Given the description of an element on the screen output the (x, y) to click on. 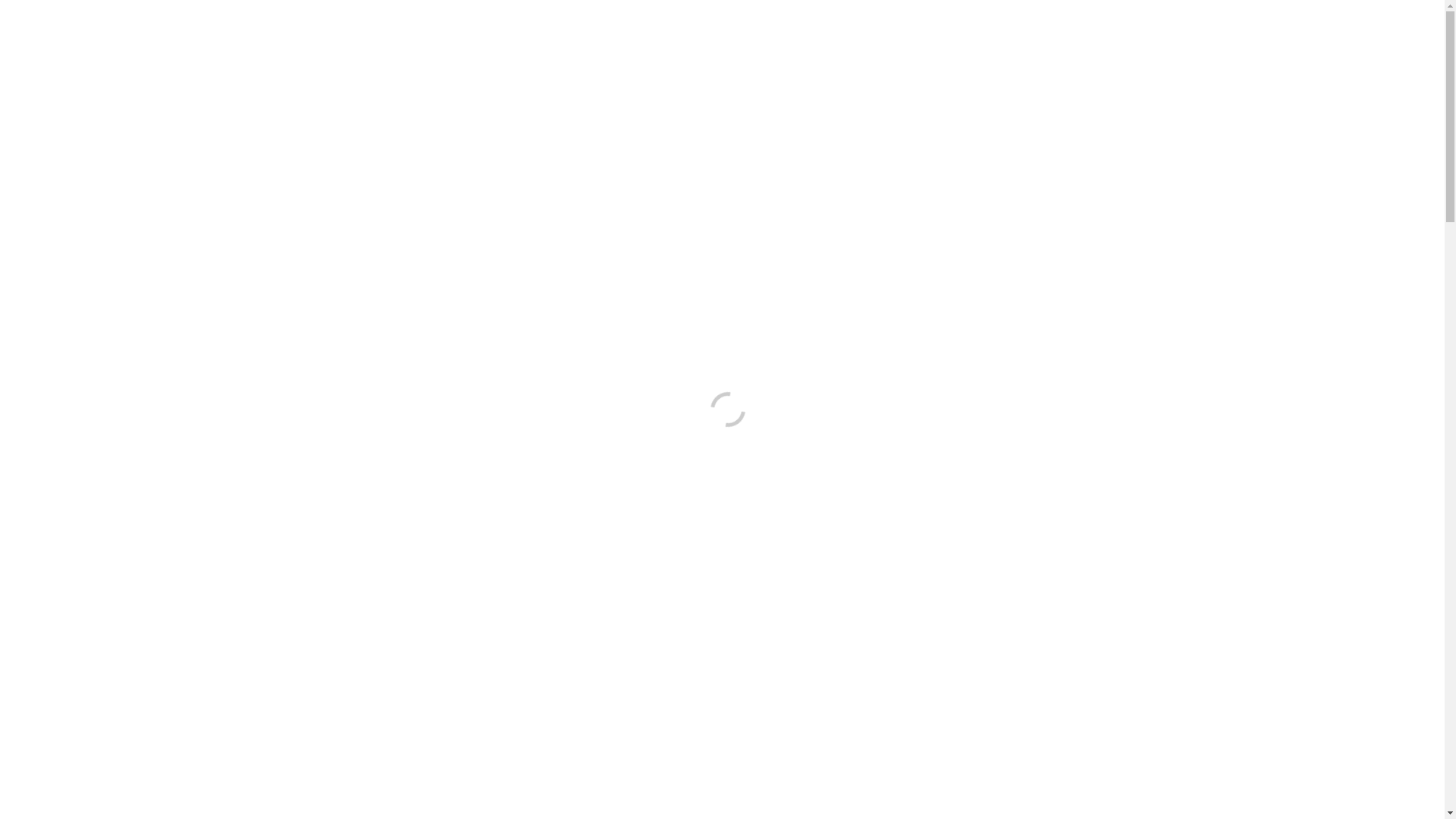
ABOUT BTA Element type: text (633, 64)
PLAYER Element type: text (706, 64)
Home Element type: hover (392, 71)
PARTNERS Element type: text (1044, 64)
COACHES & OFFICIALS Element type: text (808, 64)
CONTACTS Element type: text (1124, 64)
IMG-20201013-WA0033 Element type: hover (688, 398)
HOME Element type: text (563, 64)
BTA PROGRAMMES Element type: text (941, 64)
